Given the description of an element on the screen output the (x, y) to click on. 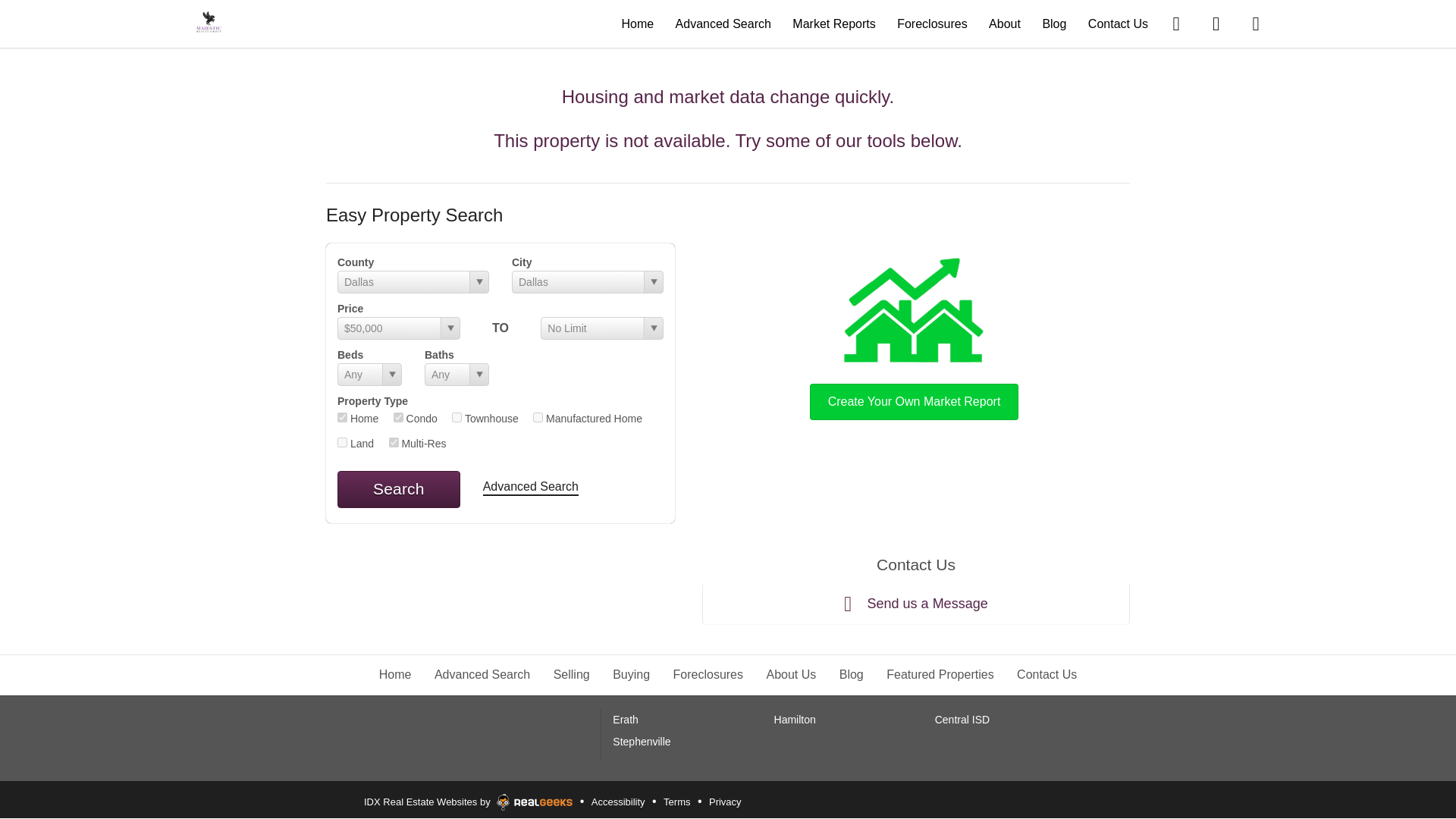
Featured Properties (939, 674)
Foreclosures (707, 674)
Advanced Search (723, 23)
Accessibility (618, 801)
Privacy (724, 801)
About Us (790, 674)
Central ISD (962, 719)
man (537, 417)
Stephenville (640, 741)
Market Reports (833, 23)
mul (392, 442)
Open contact form (1176, 22)
Blog (851, 674)
Login or Signup (1255, 22)
Search (398, 488)
